Given the description of an element on the screen output the (x, y) to click on. 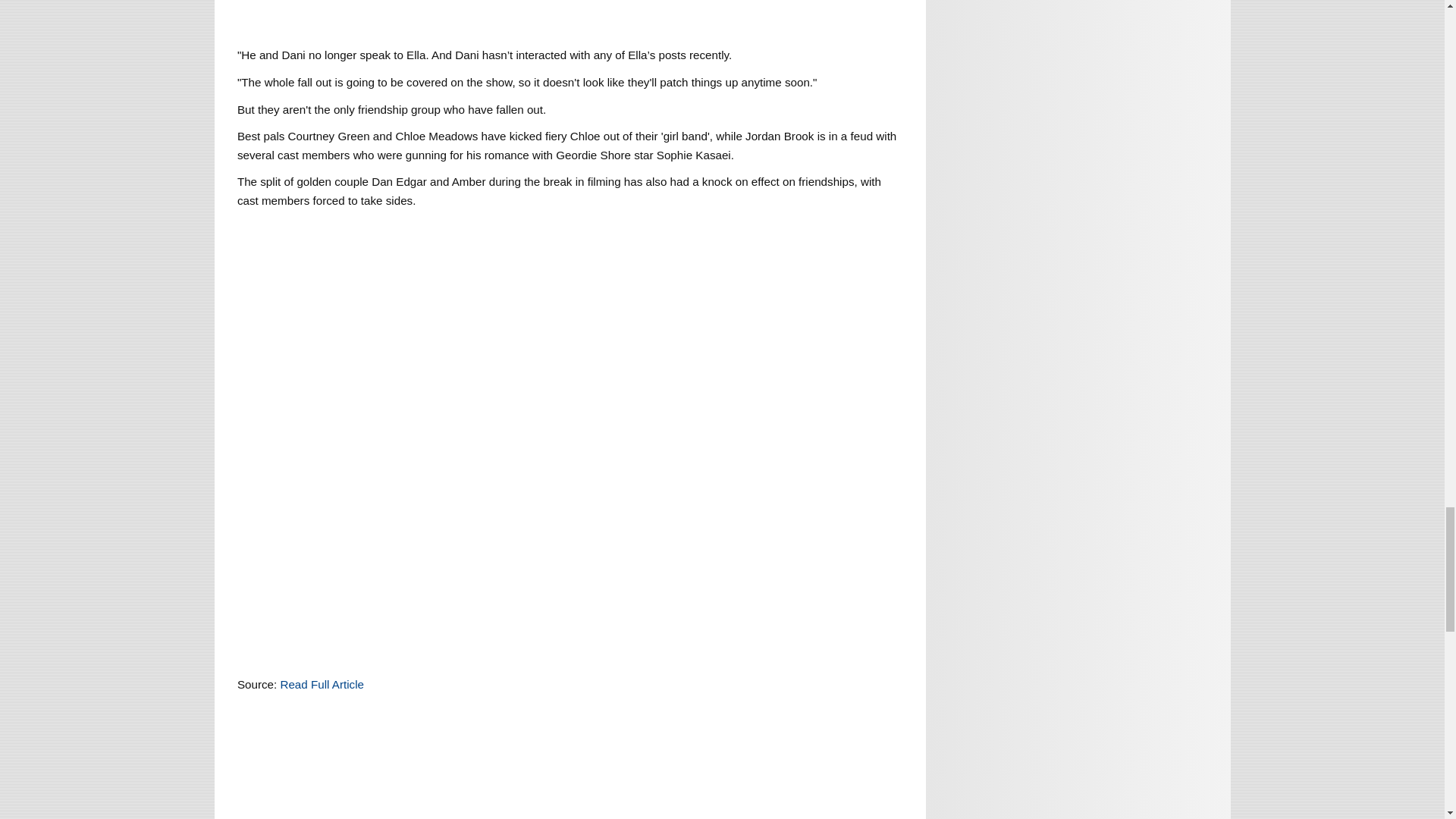
Read Full Article (321, 684)
